Given the description of an element on the screen output the (x, y) to click on. 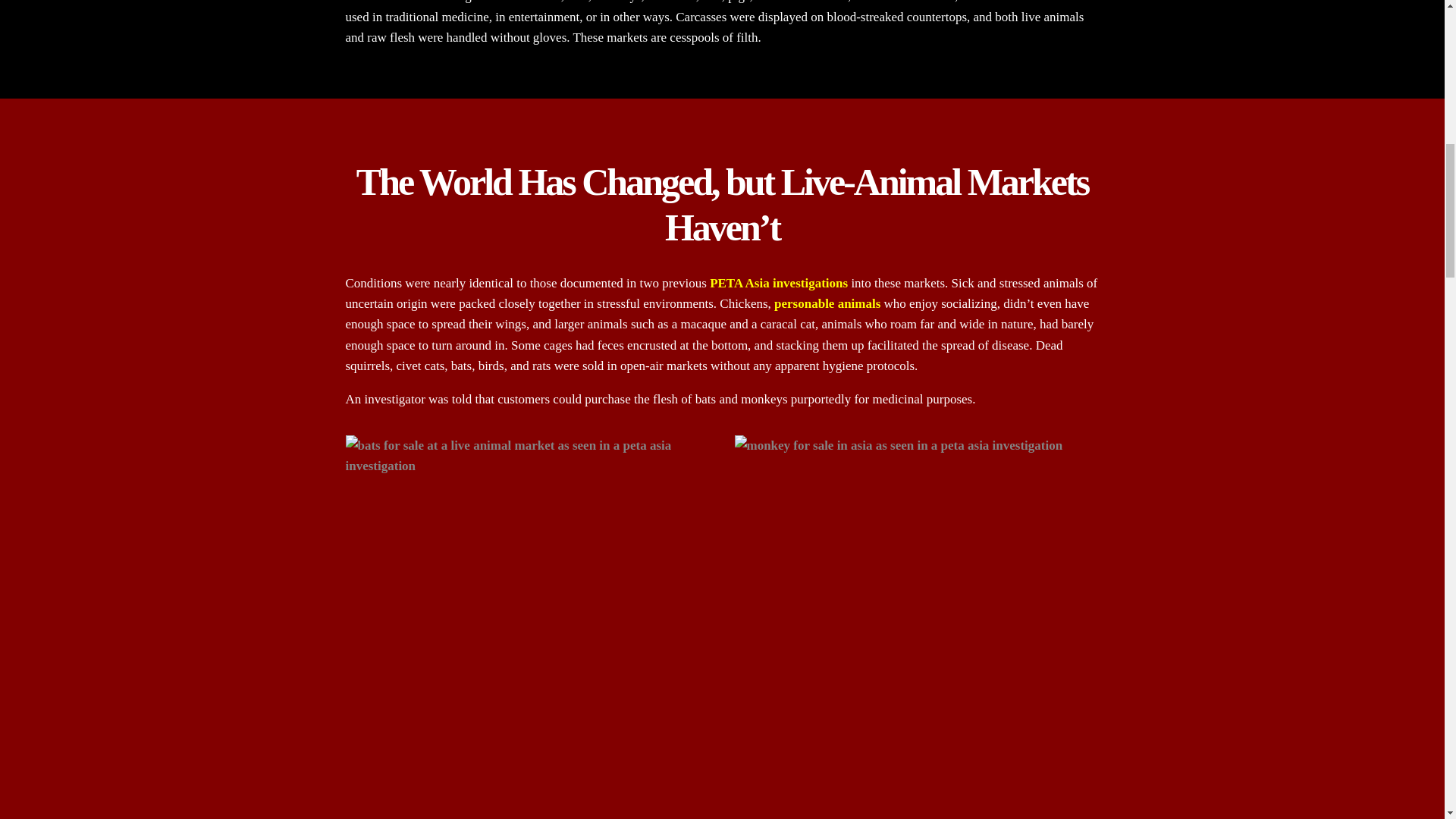
personable animals (827, 303)
PETA Asia investigations (778, 283)
